Given the description of an element on the screen output the (x, y) to click on. 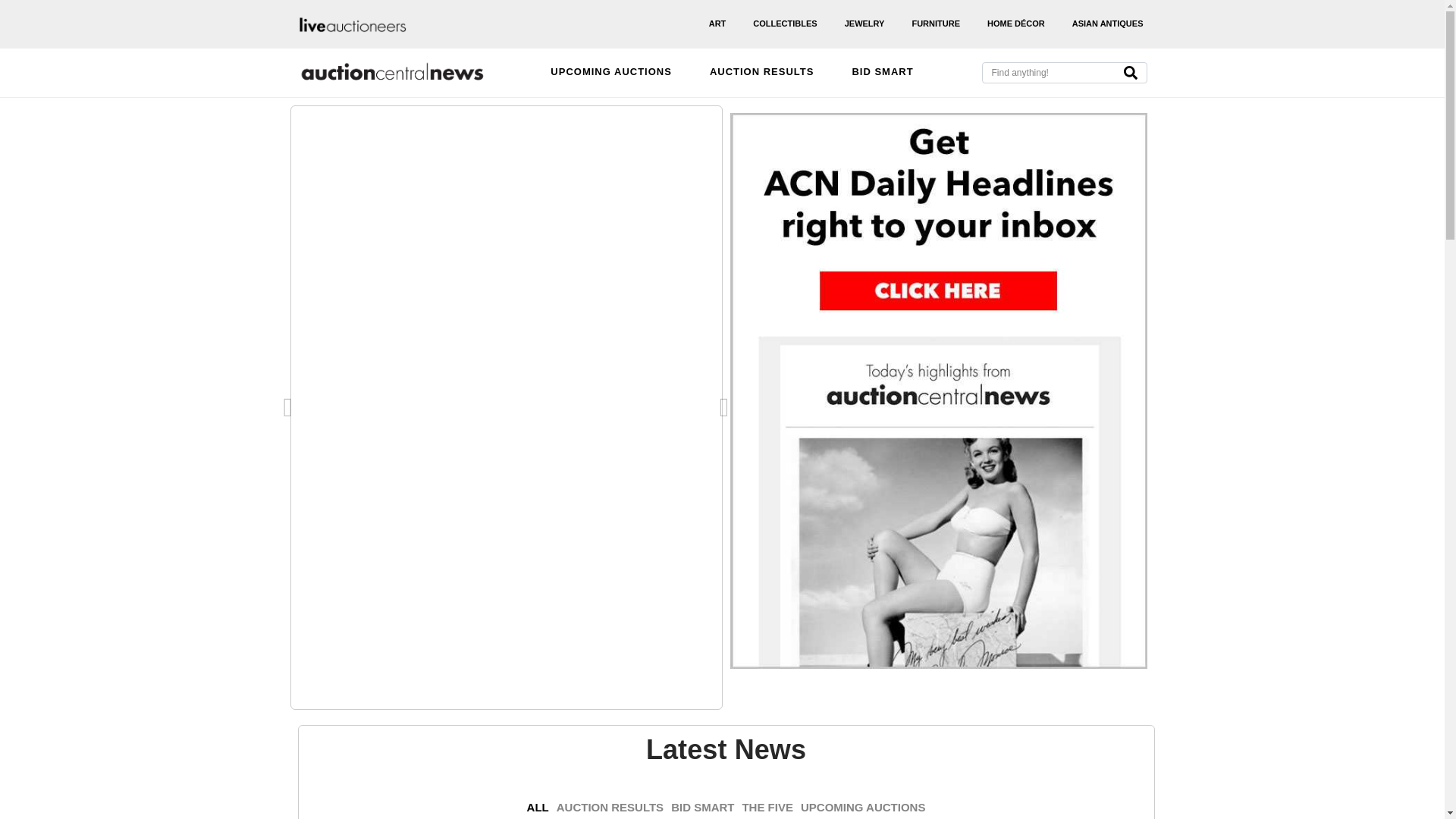
ASIAN ANTIQUES (1107, 23)
AUCTION RESULTS (762, 72)
JEWELRY (864, 23)
COLLECTIBLES (785, 23)
BID SMART (882, 72)
FURNITURE (935, 23)
UPCOMING AUCTIONS (611, 72)
